Given the description of an element on the screen output the (x, y) to click on. 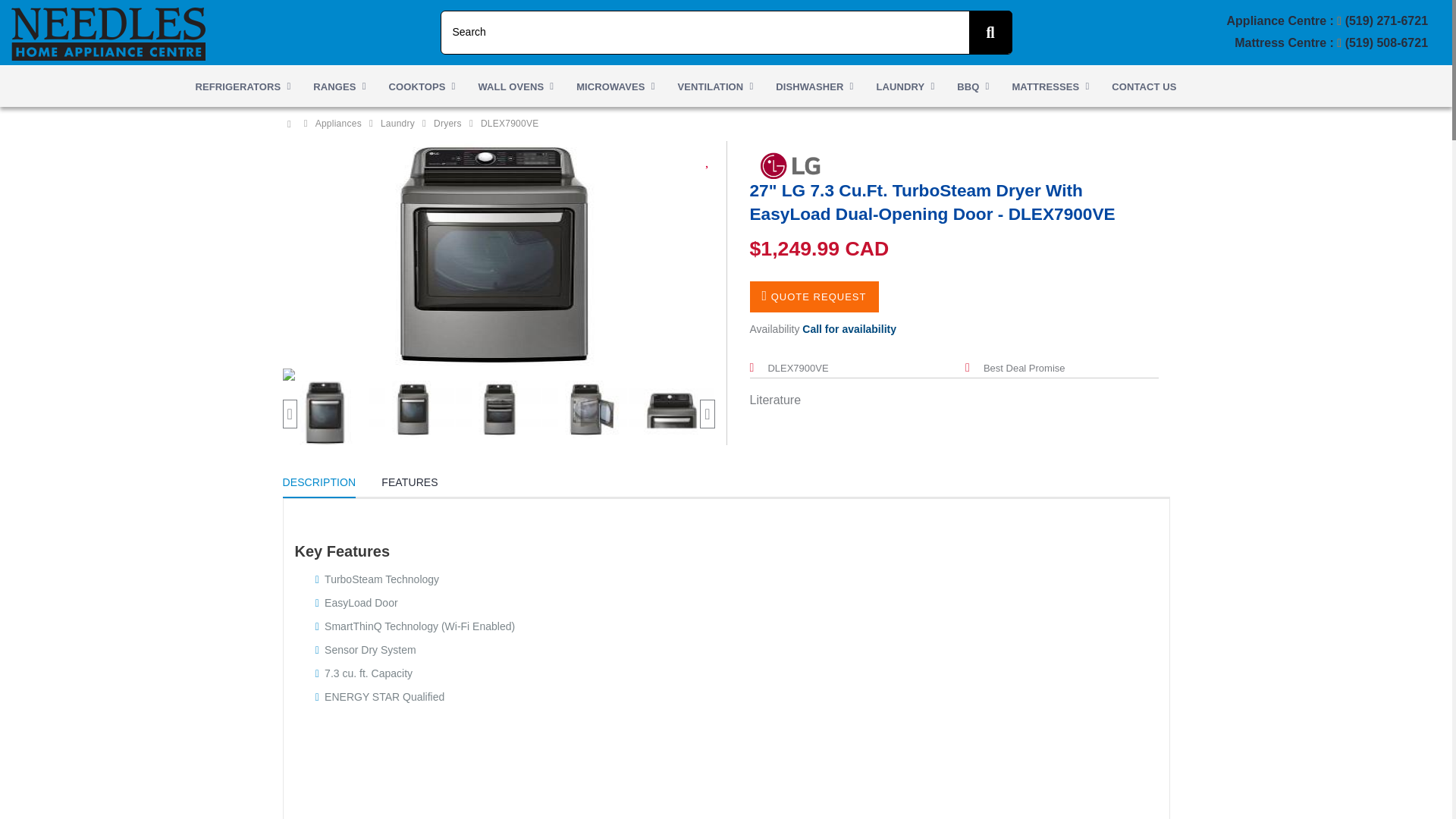
REFRIGERATORS (242, 86)
